Given the description of an element on the screen output the (x, y) to click on. 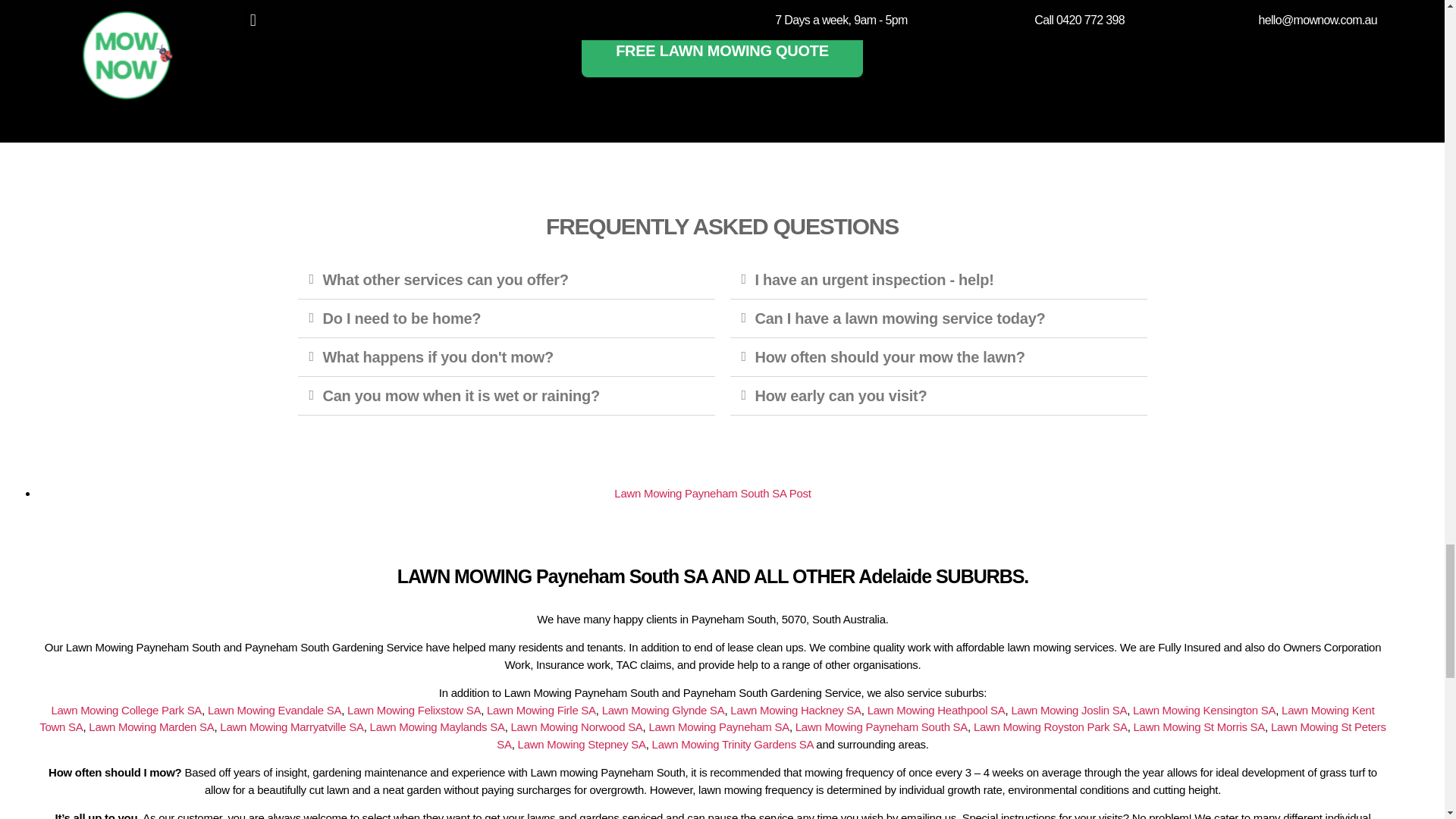
I have an urgent inspection - help! (874, 279)
Can you mow when it is wet or raining? (461, 395)
What happens if you don't mow? (438, 356)
Lawn Mowing College Park SA (126, 709)
Lawn Mowing Felixstow SA (413, 709)
Can I have a lawn mowing service today? (900, 318)
What other services can you offer? (446, 279)
Lawn Mowing Payneham South SA Post (712, 492)
Lawn Mowing Evandale SA (274, 709)
How often should your mow the lawn? (890, 356)
How early can you visit? (841, 395)
Lawn Mowing Firle SA (540, 709)
Do I need to be home? (402, 318)
FREE LAWN MOWING QUOTE (721, 50)
